Given the description of an element on the screen output the (x, y) to click on. 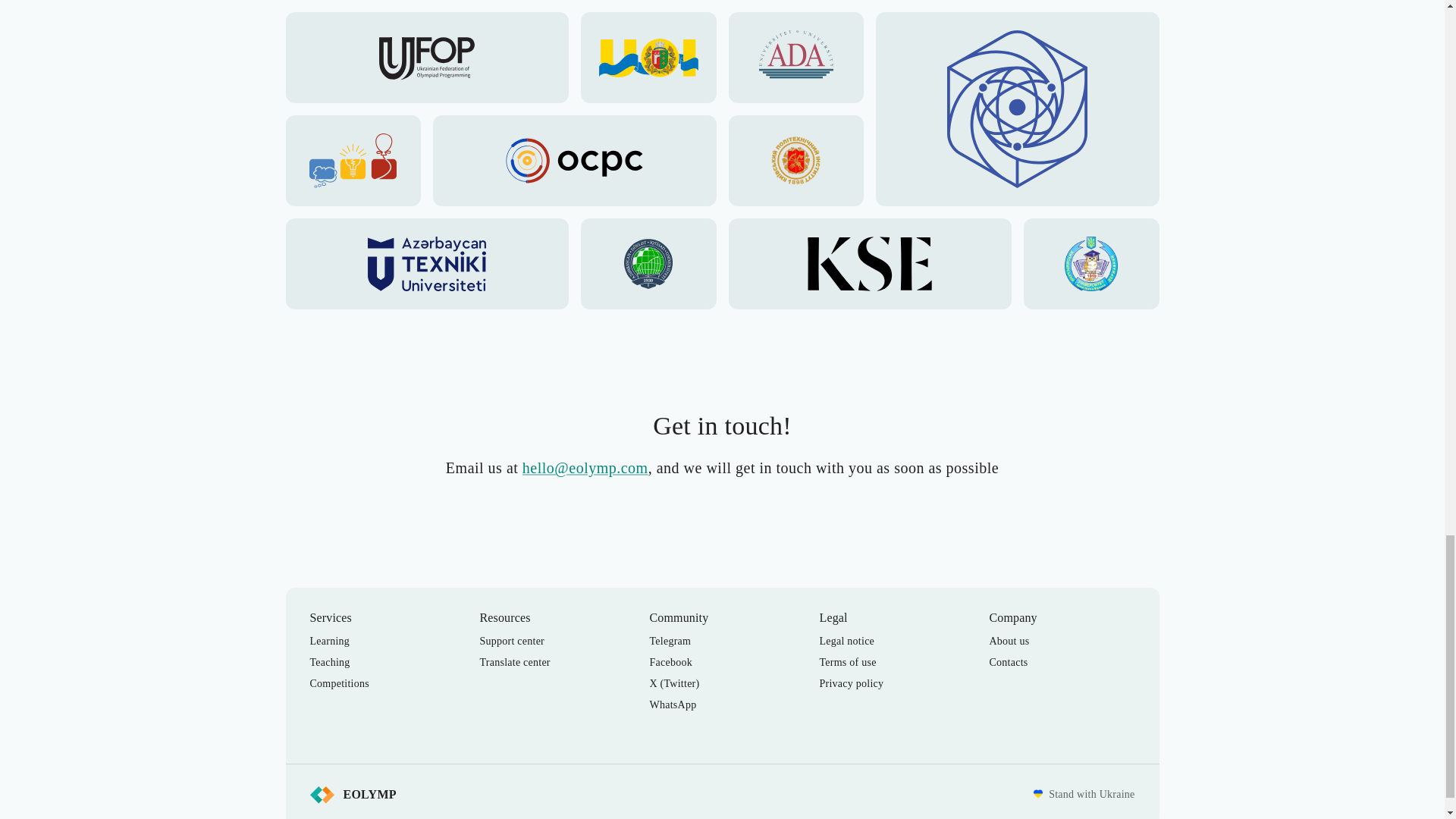
Teaching (328, 662)
ICPC SEERC (352, 160)
Facebook (670, 662)
Privacy policy (850, 683)
Zhytomyr Ivan Franko State University (1090, 263)
Legal notice (846, 641)
Innovation and Digital Development Agency of Azerbaijan (1017, 109)
Competitions (338, 683)
Telegram (669, 641)
